Given the description of an element on the screen output the (x, y) to click on. 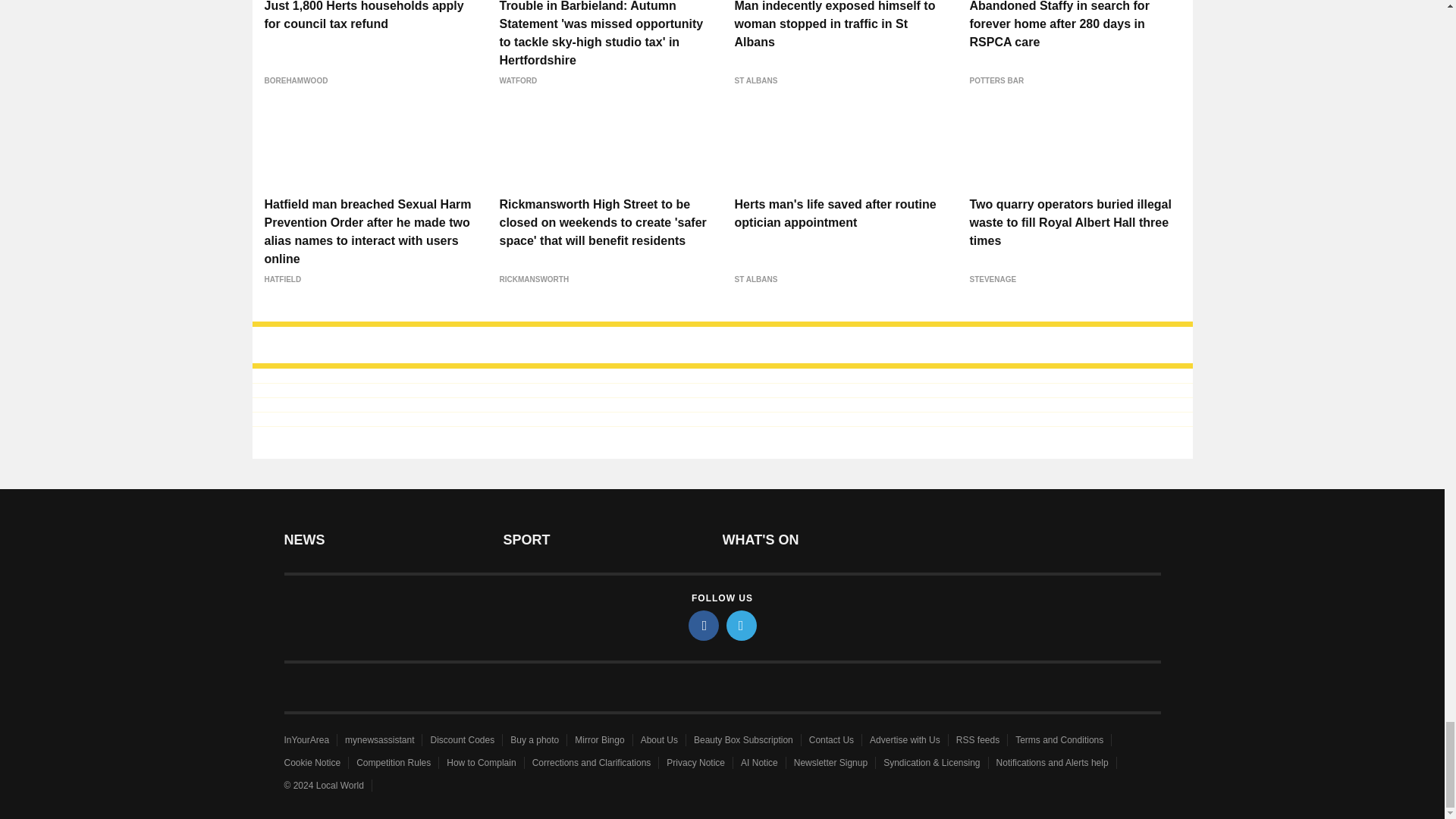
twitter (741, 625)
facebook (703, 625)
